Given the description of an element on the screen output the (x, y) to click on. 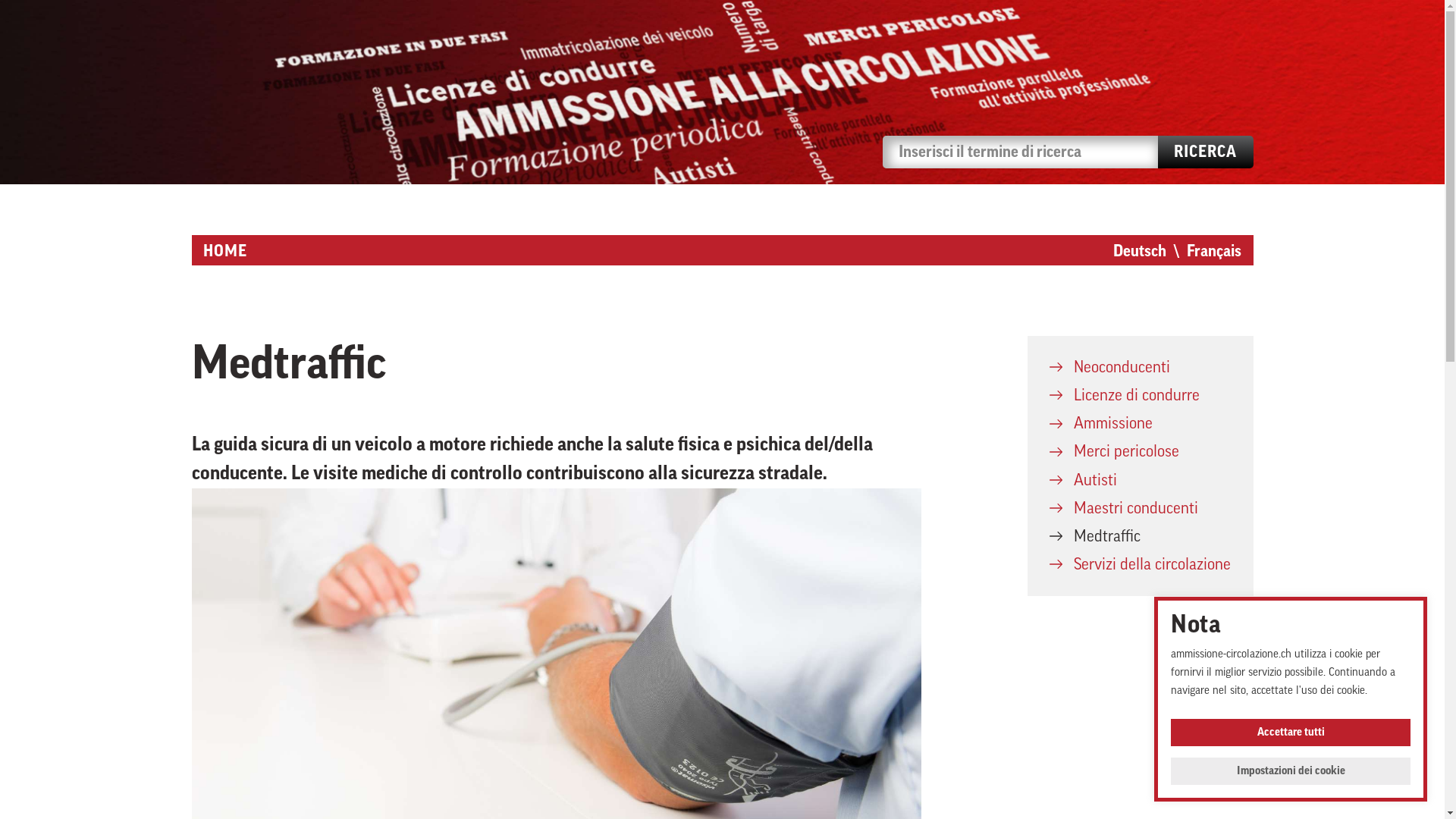
Neoconducenti Element type: text (1139, 367)
Ammissione Element type: text (1139, 423)
RICERCA Element type: text (1204, 151)
Medtraffic Element type: text (1139, 536)
Accettare tutti Element type: text (1290, 732)
Merci pericolose Element type: text (1139, 451)
Maestri conducenti Element type: text (1139, 508)
Impostazioni dei cookie Element type: text (1290, 770)
Deutsch Element type: text (1139, 251)
HOME Element type: text (225, 250)
Licenze di condurre Element type: text (1139, 395)
Autisti Element type: text (1139, 480)
Servizi della circolazione Element type: text (1139, 564)
